Given the description of an element on the screen output the (x, y) to click on. 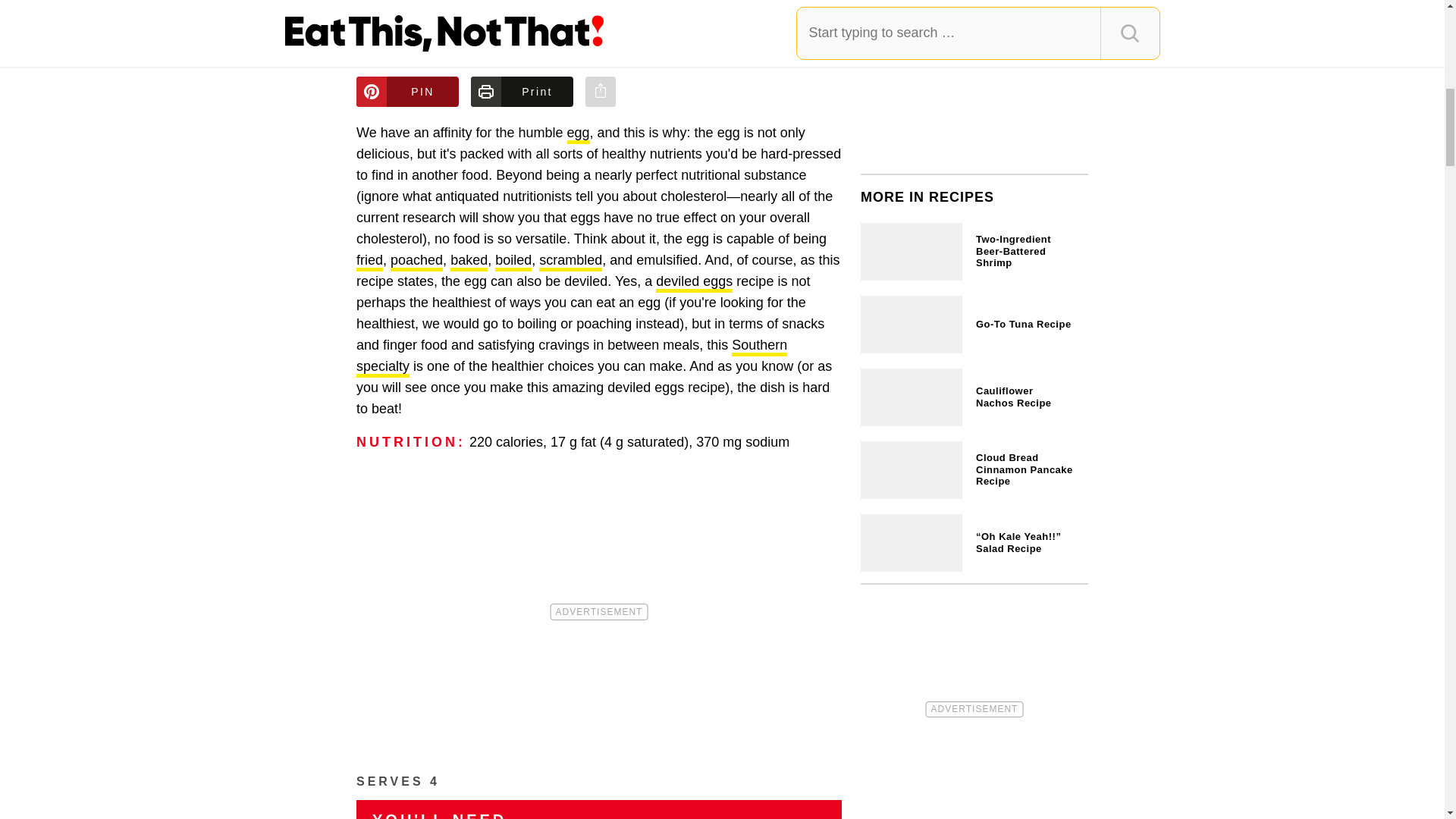
Share on Pinterest (407, 91)
Share via e-mail (600, 91)
Print this page (521, 91)
